Given the description of an element on the screen output the (x, y) to click on. 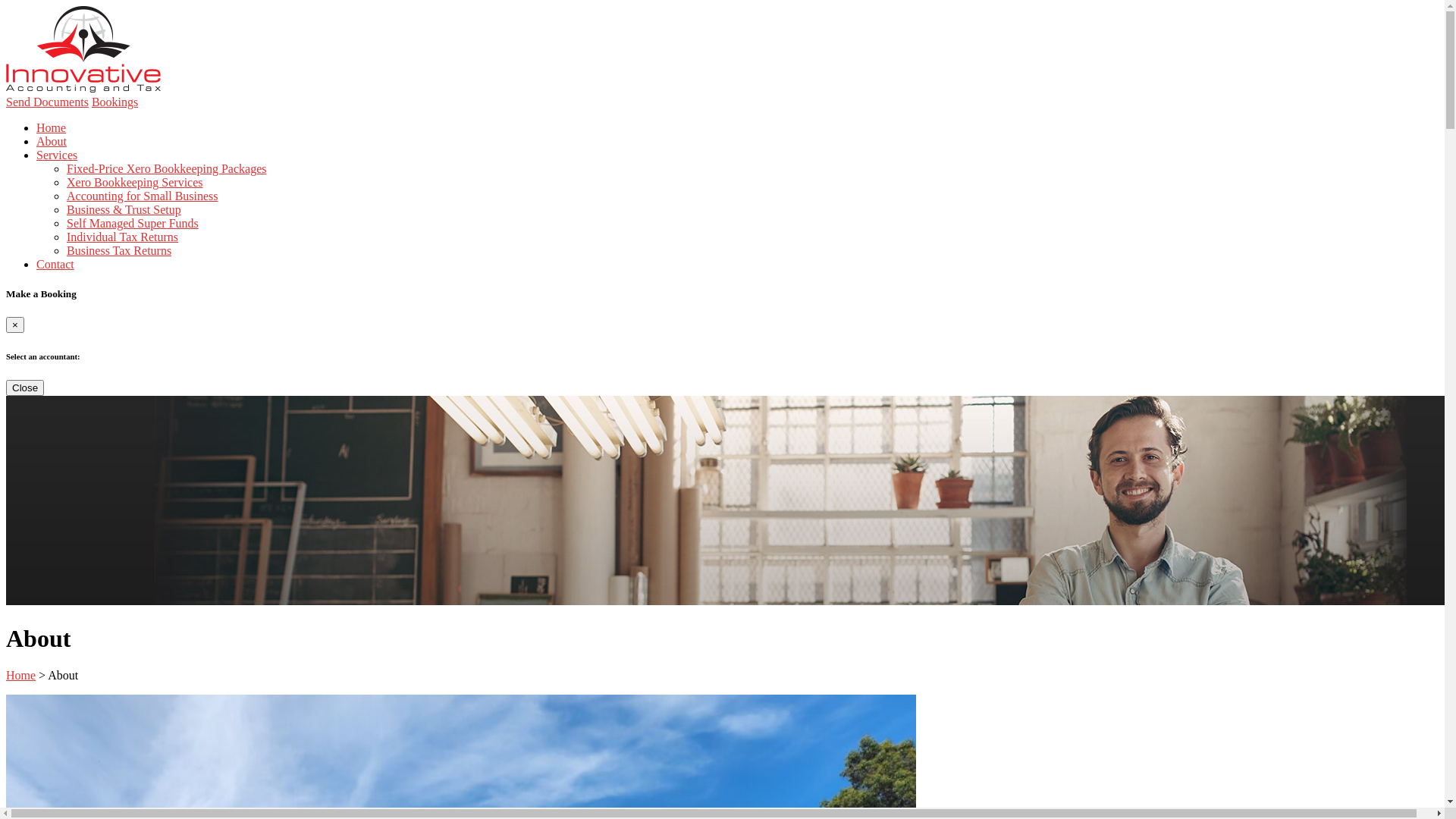
Bookings Element type: text (114, 101)
Fixed-Price Xero Bookkeeping Packages Element type: text (166, 168)
Close Element type: text (24, 387)
Home Element type: text (50, 127)
Accounting for Small Business Element type: text (142, 195)
Business Tax Returns Element type: text (118, 250)
Send Documents Element type: text (47, 101)
Xero Bookkeeping Services Element type: text (134, 181)
Contact Element type: text (55, 263)
About Element type: text (51, 140)
Self Managed Super Funds Element type: text (132, 222)
Individual Tax Returns Element type: text (122, 236)
Services Element type: text (56, 154)
Business & Trust Setup Element type: text (123, 209)
Home Element type: text (20, 674)
